Given the description of an element on the screen output the (x, y) to click on. 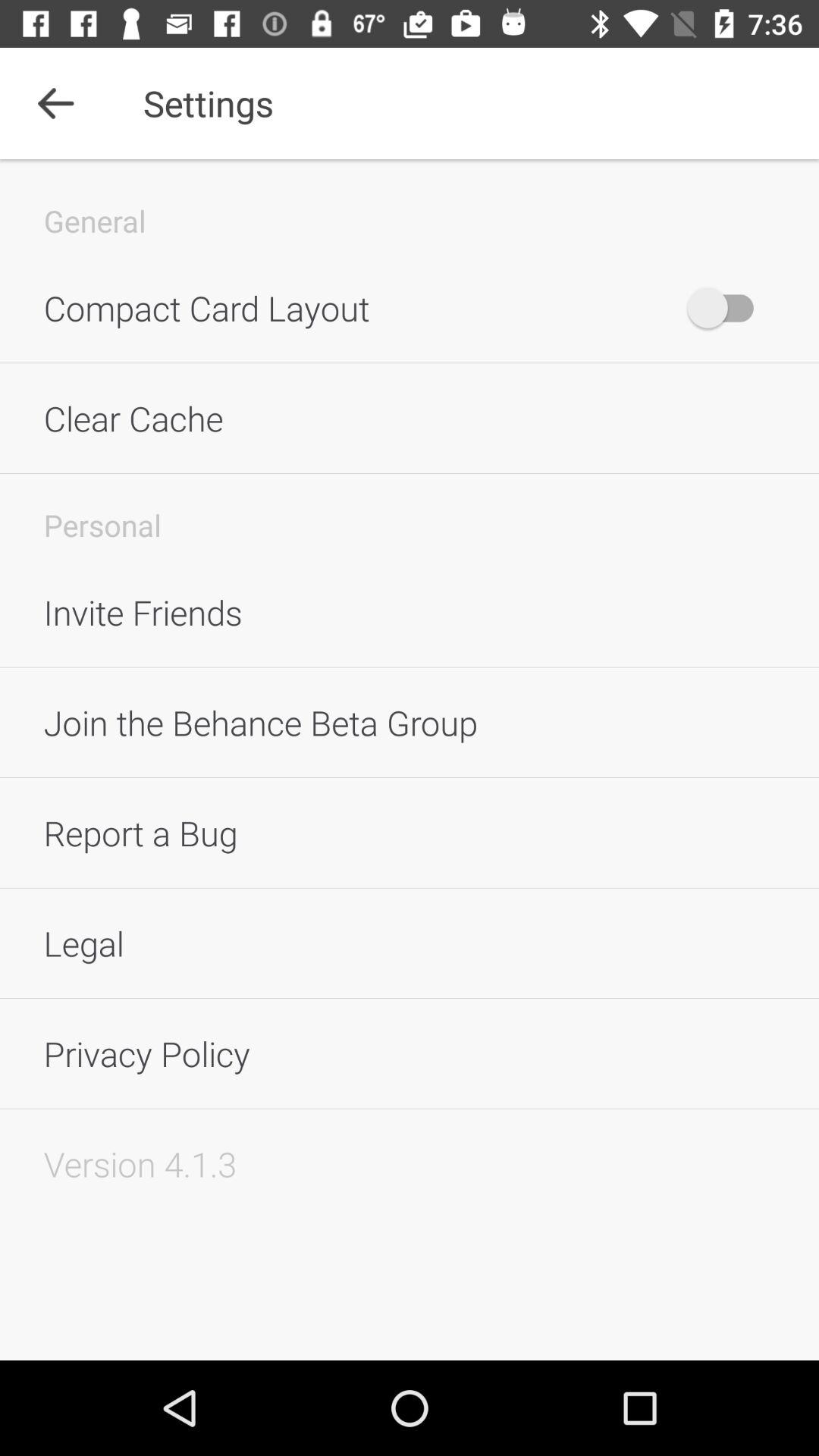
click on the button beside compact card layout (727, 307)
